Given the description of an element on the screen output the (x, y) to click on. 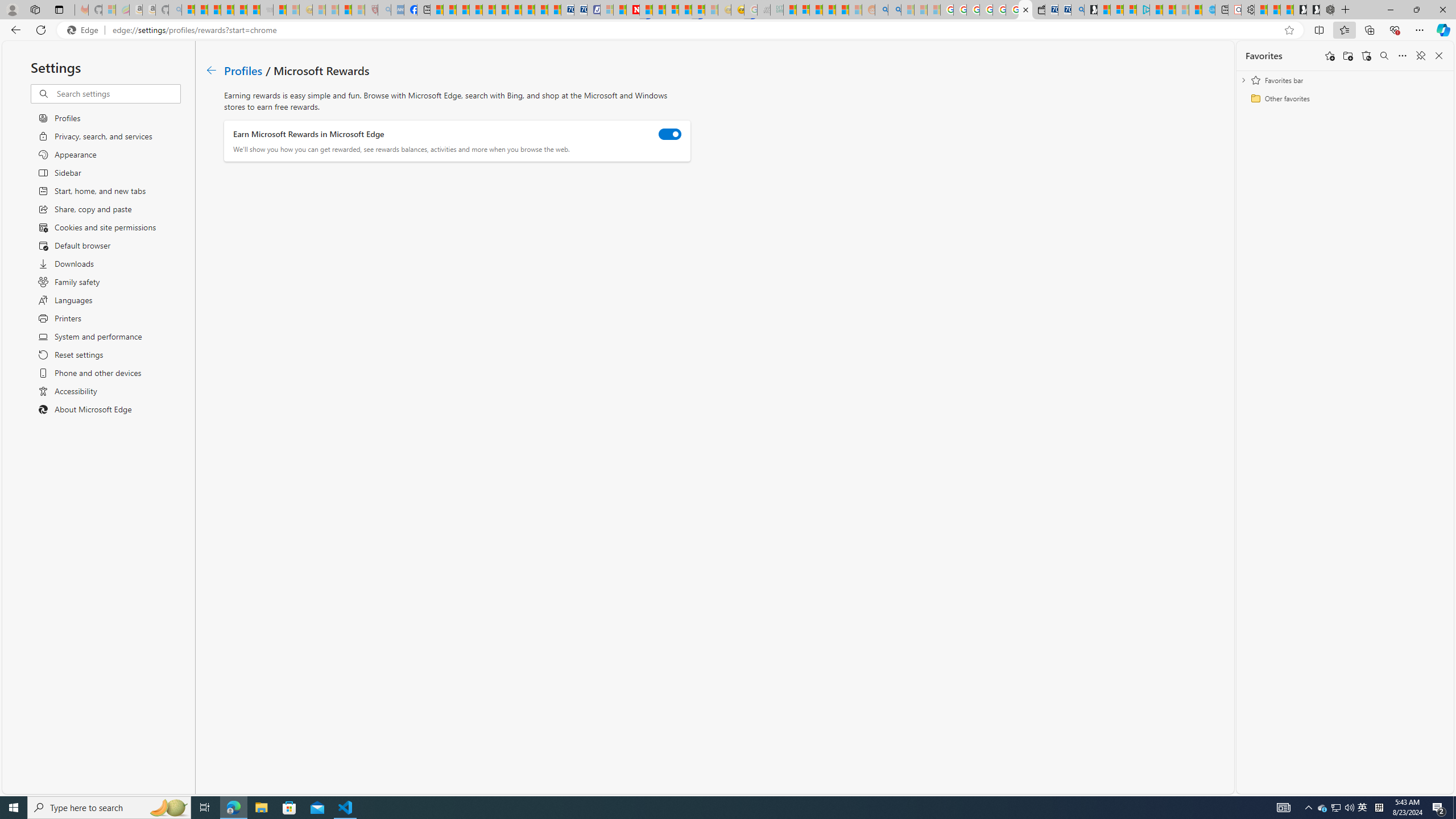
Edge (84, 29)
Combat Siege - Sleeping (266, 9)
Add folder (1347, 55)
Unpin favorites (1420, 55)
Search settings (117, 93)
Navy Quest (763, 9)
